Given the description of an element on the screen output the (x, y) to click on. 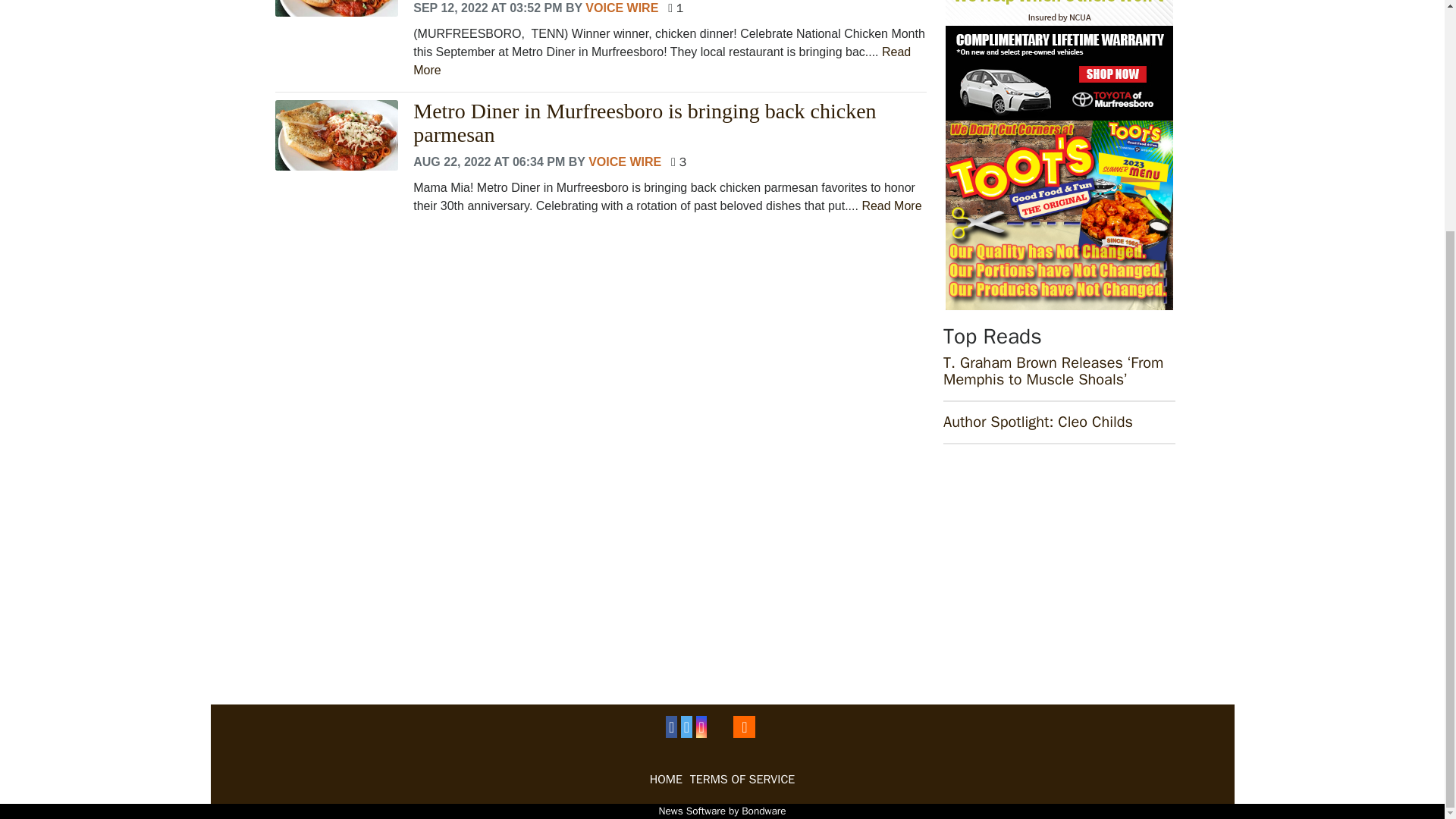
View Twitter Page (687, 726)
View Facebook Page (671, 726)
View Instagram Page (701, 726)
View RSS Feeds (744, 726)
